Given the description of an element on the screen output the (x, y) to click on. 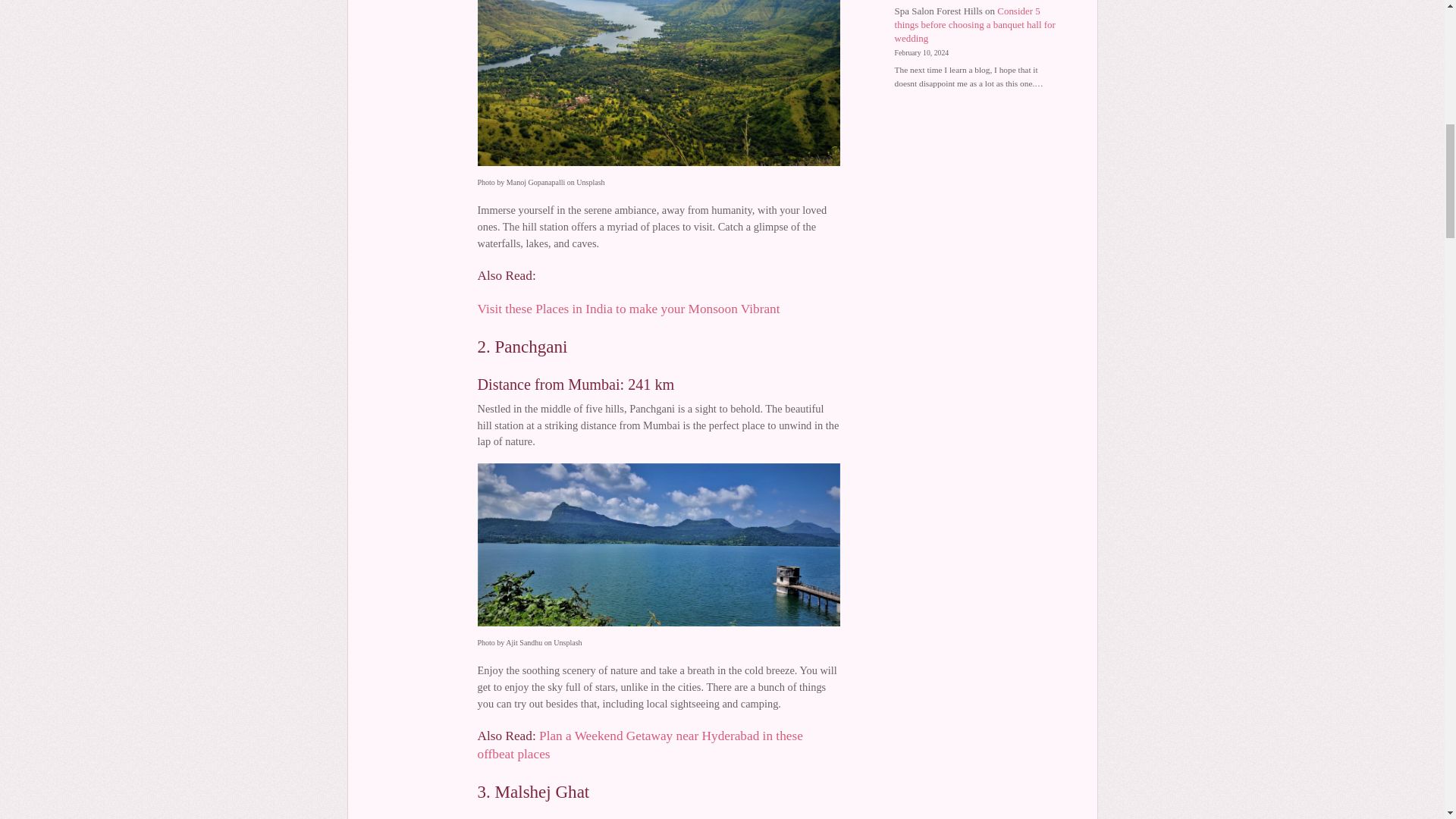
Consider 5 things before choosing a banquet hall for wedding (975, 24)
Visit these Places in India to make your Monsoon Vibrant (628, 309)
